Given the description of an element on the screen output the (x, y) to click on. 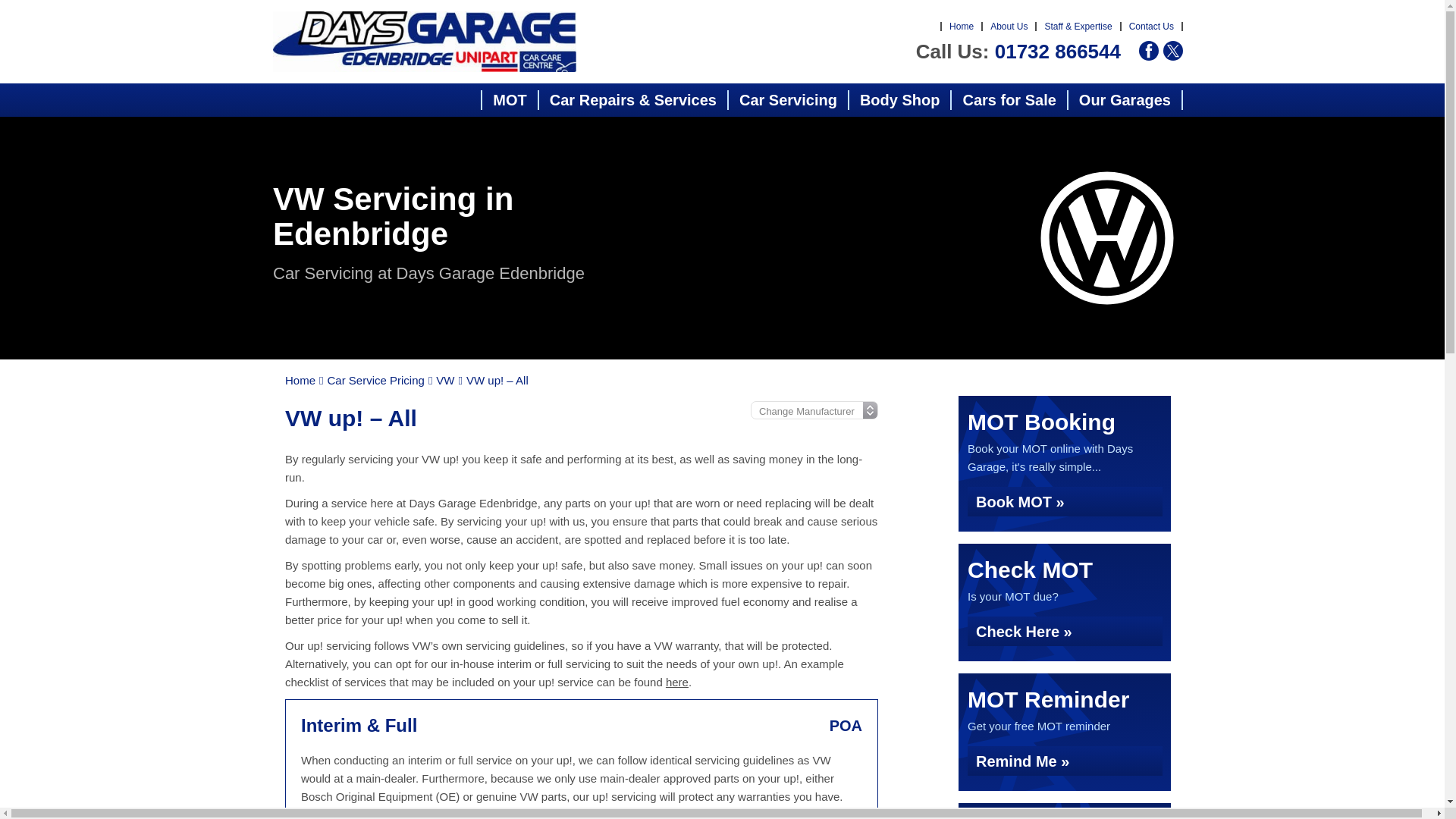
Call Us: 01732 866544 (1018, 51)
Contact Us (1151, 26)
Home (961, 26)
About Us (1008, 26)
MOT (509, 99)
